Given the description of an element on the screen output the (x, y) to click on. 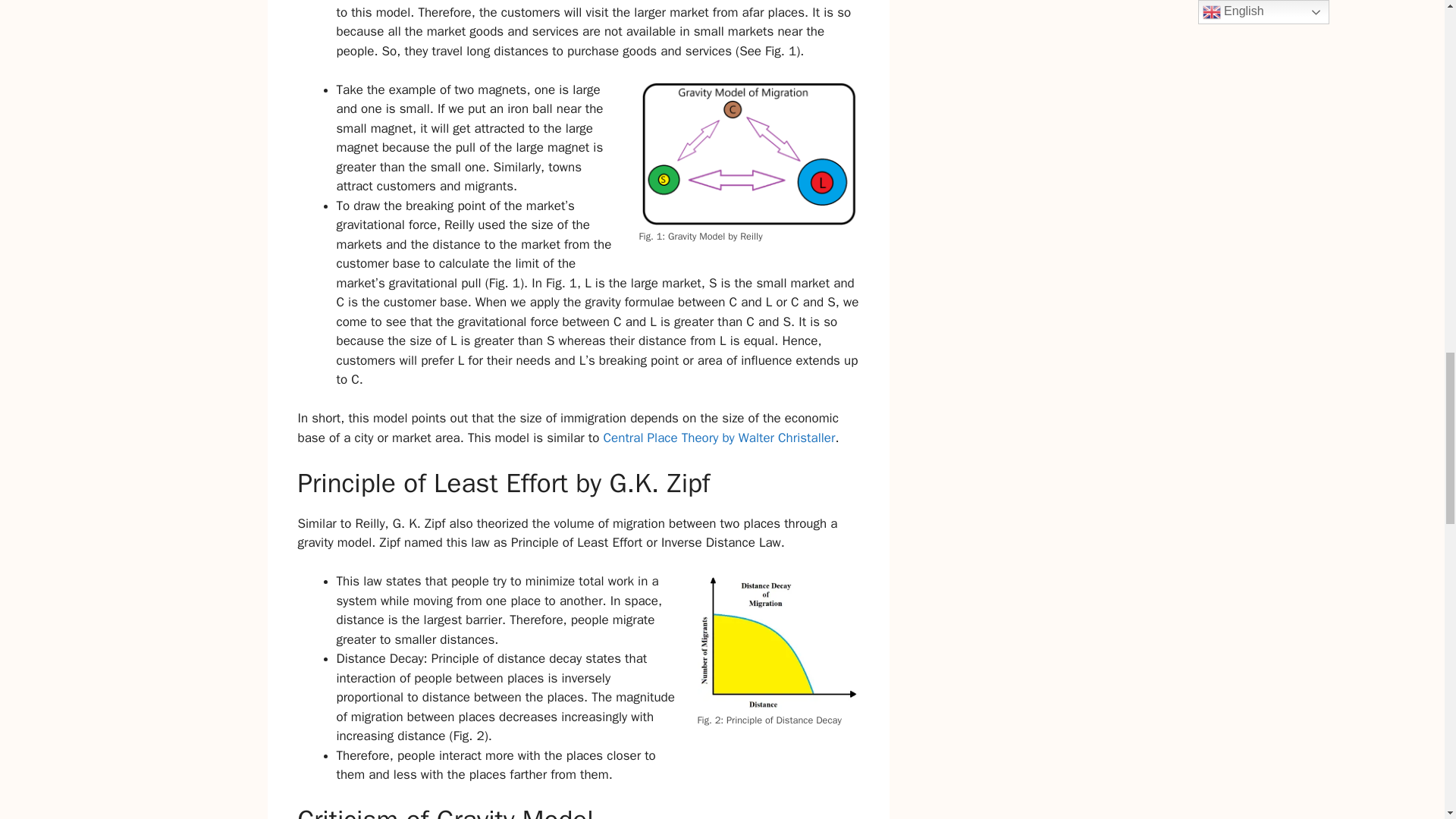
Central Place Theory by Walter Christaller (716, 437)
